Given the description of an element on the screen output the (x, y) to click on. 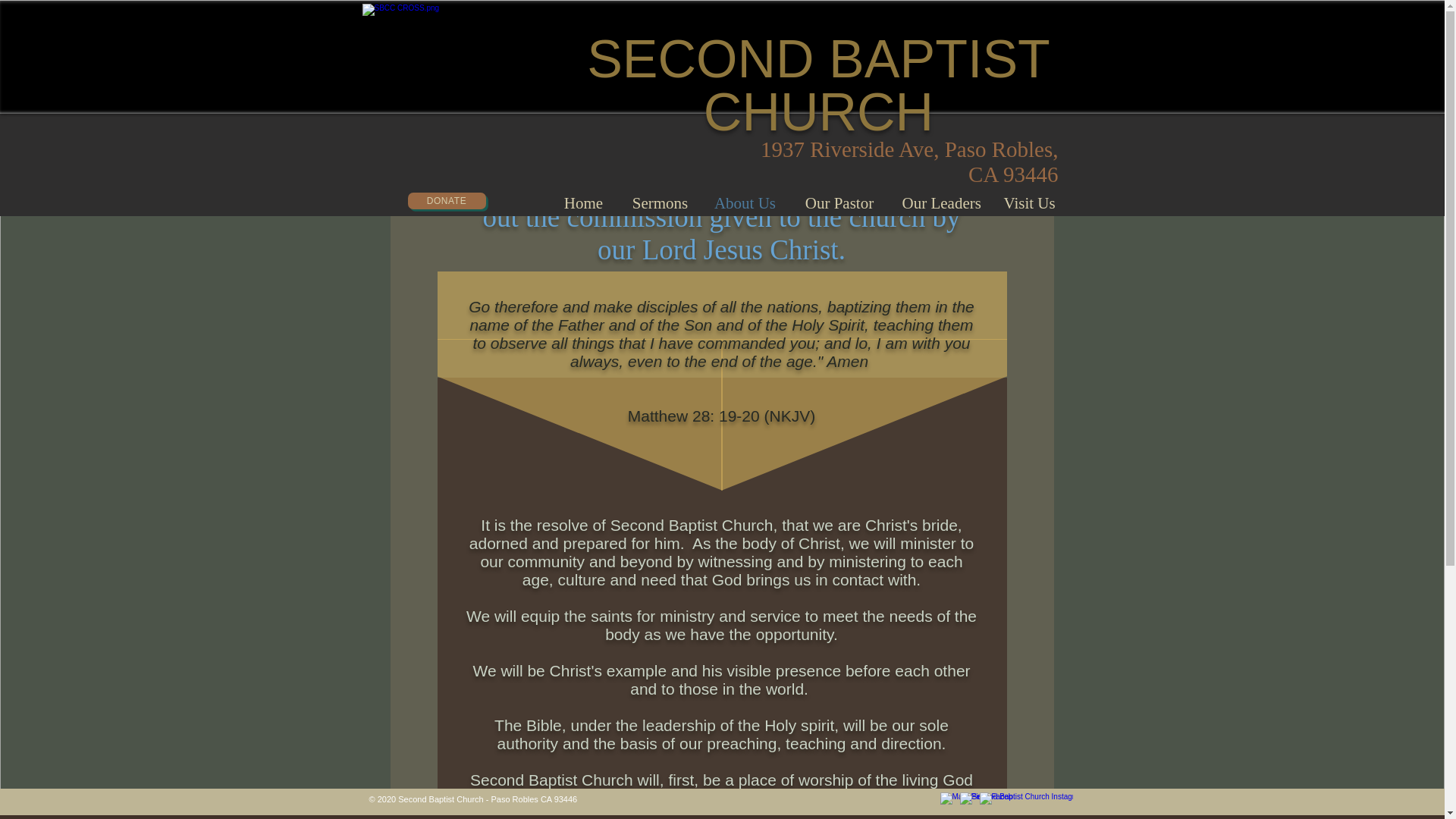
DONATE (446, 200)
About Us (745, 203)
Home (583, 203)
Visit Us (1028, 203)
Sermons (659, 203)
Our Leaders (940, 203)
Our Pastor (840, 203)
